Given the description of an element on the screen output the (x, y) to click on. 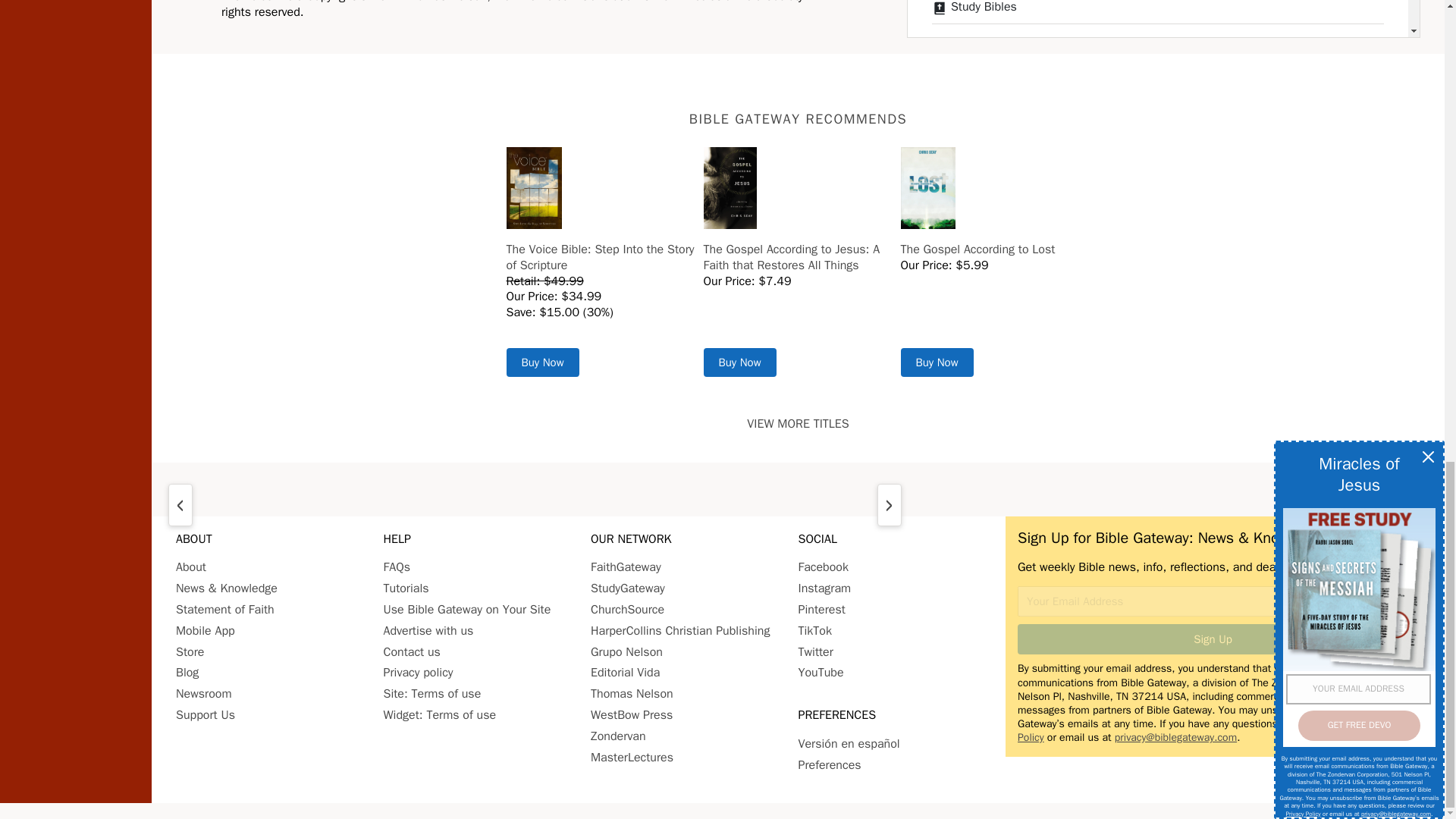
Widget: Terms of use (440, 714)
Set your preferences for BibleGateway.com (828, 765)
Sign Up (1212, 639)
Site: Terms of use (432, 693)
